Given the description of an element on the screen output the (x, y) to click on. 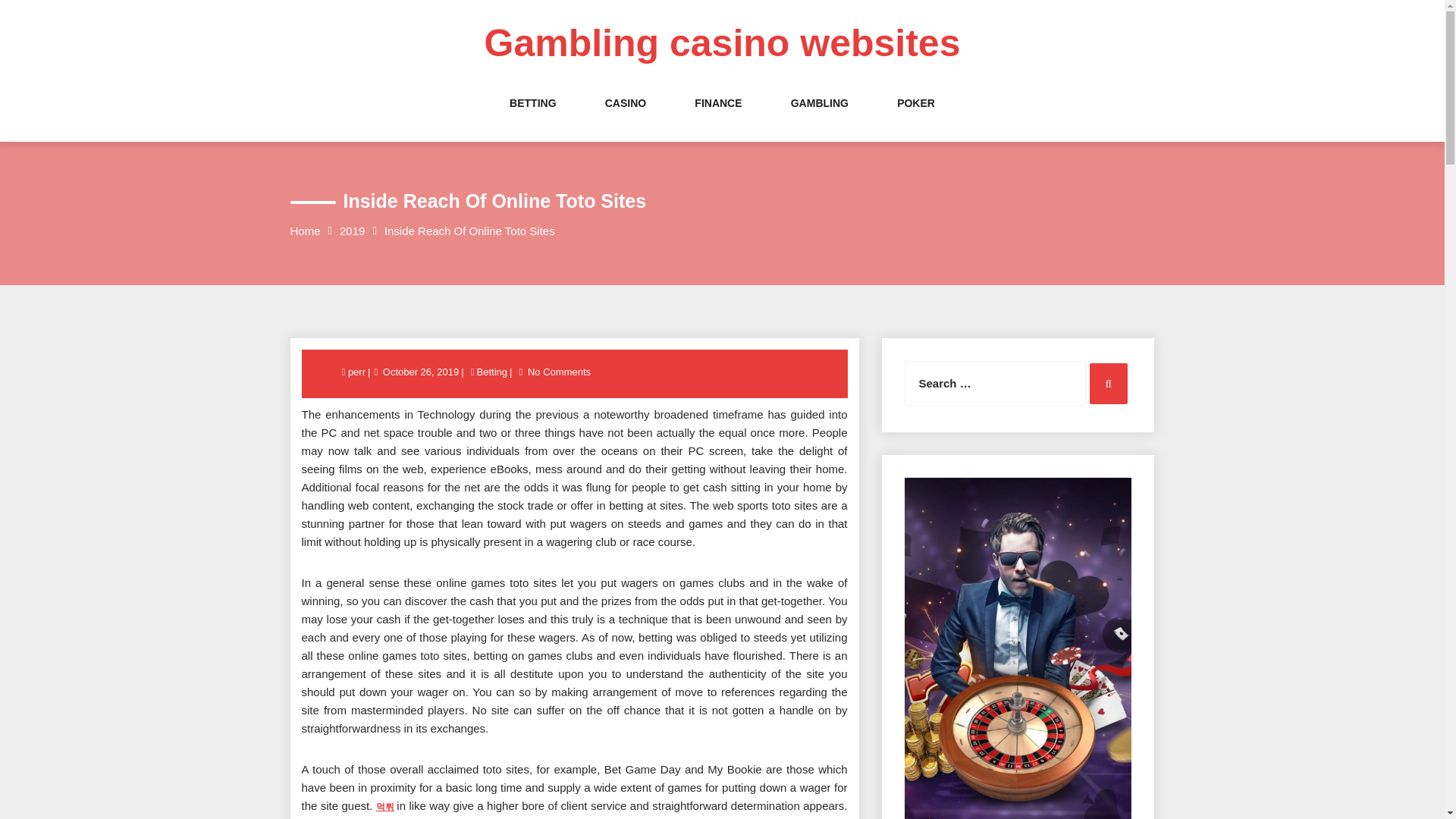
Betting (491, 371)
October 26, 2019 (420, 371)
CASINO (625, 118)
No Comments (558, 371)
perr (357, 371)
BETTING (532, 118)
Gambling casino websites (722, 43)
Home (304, 230)
FINANCE (717, 118)
2019 (352, 230)
